Given the description of an element on the screen output the (x, y) to click on. 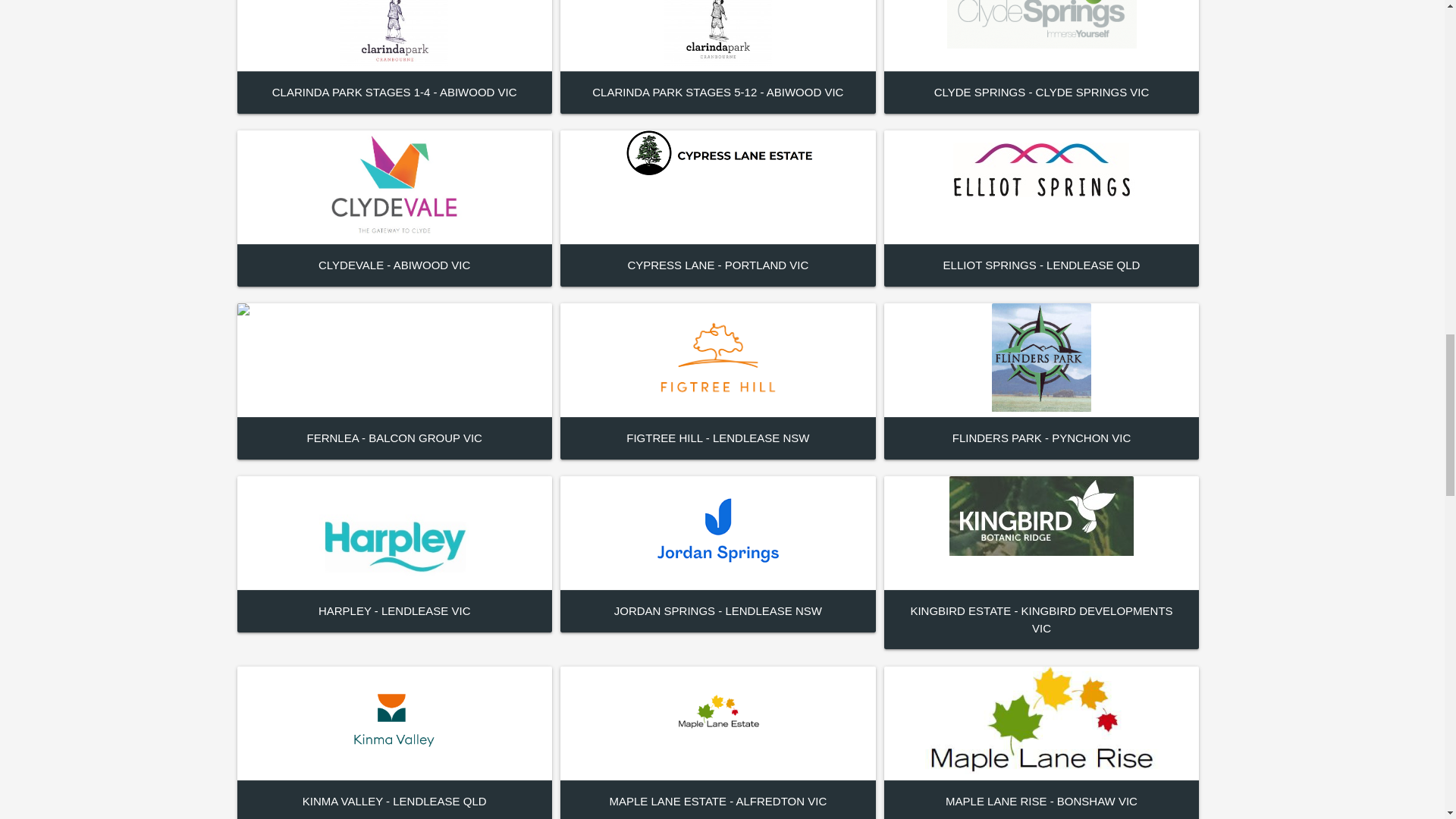
CLYDEVALE - ABIWOOD VIC (394, 264)
CLARINDA PARK STAGES 1-4 - ABIWOOD VIC (394, 91)
CLARINDA PARK STAGES 5-12 - ABIWOOD VIC (717, 91)
CLYDE SPRINGS - CLYDE SPRINGS VIC (1042, 91)
